Given the description of an element on the screen output the (x, y) to click on. 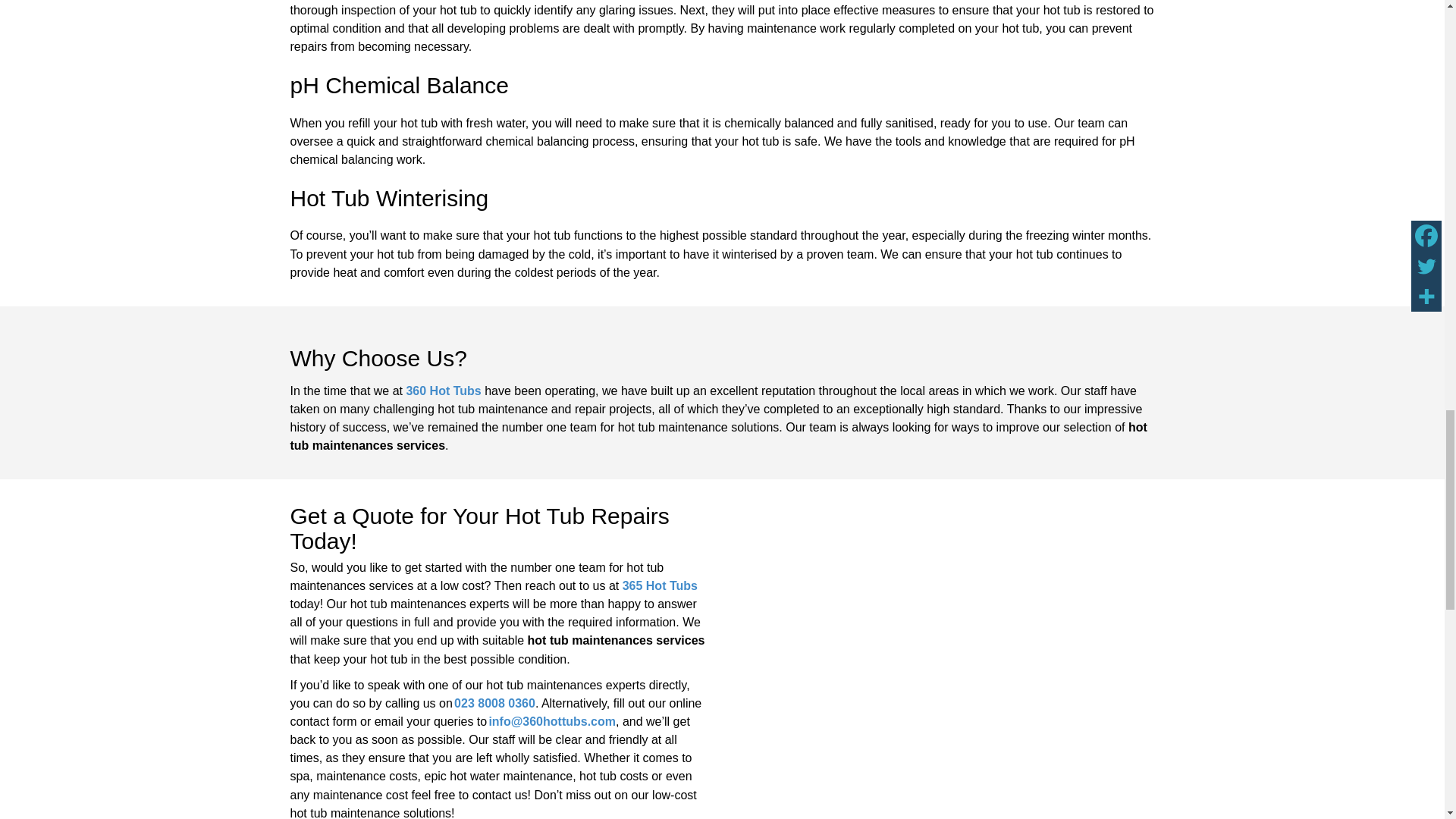
360 Hot Tubs Hampshire (943, 627)
360 Hot Tubs (443, 390)
023 8008 0360 (494, 703)
365 Hot Tubs (660, 585)
